Given the description of an element on the screen output the (x, y) to click on. 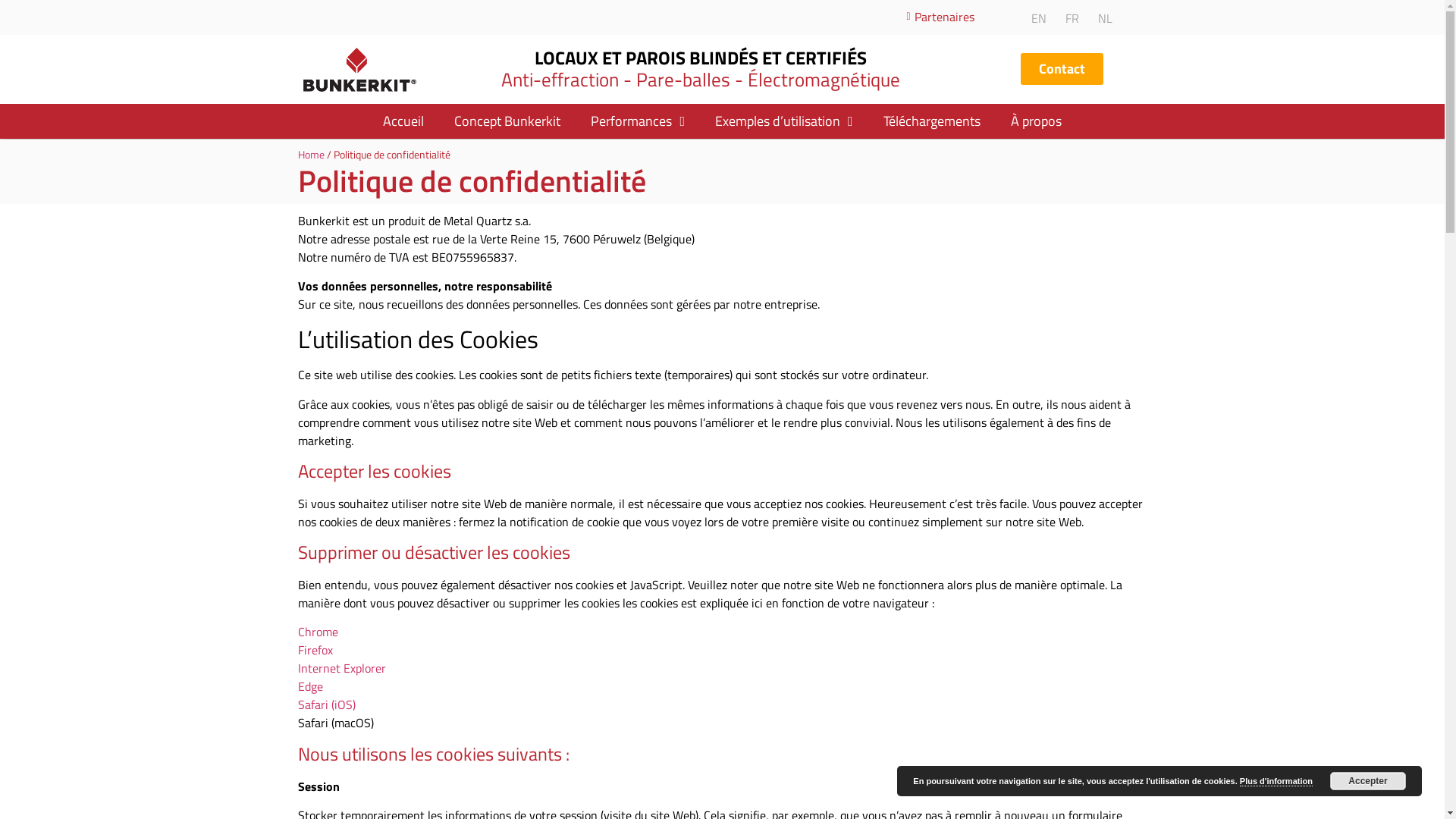
Performances Element type: text (637, 120)
Contact Element type: text (1061, 68)
Chrome Element type: text (317, 631)
NL Element type: text (1101, 17)
Accueil Element type: text (403, 120)
Plus d'information Element type: text (1275, 781)
Accepter Element type: text (1367, 780)
EN Element type: text (1034, 17)
Partenaires Element type: text (935, 16)
Safari (iOS) Element type: text (325, 704)
Concept Bunkerkit Element type: text (507, 120)
Internet Explorer Element type: text (341, 667)
FR Element type: text (1068, 17)
Home Element type: text (310, 154)
Firefox Element type: text (314, 649)
Edge Element type: text (309, 686)
